Given the description of an element on the screen output the (x, y) to click on. 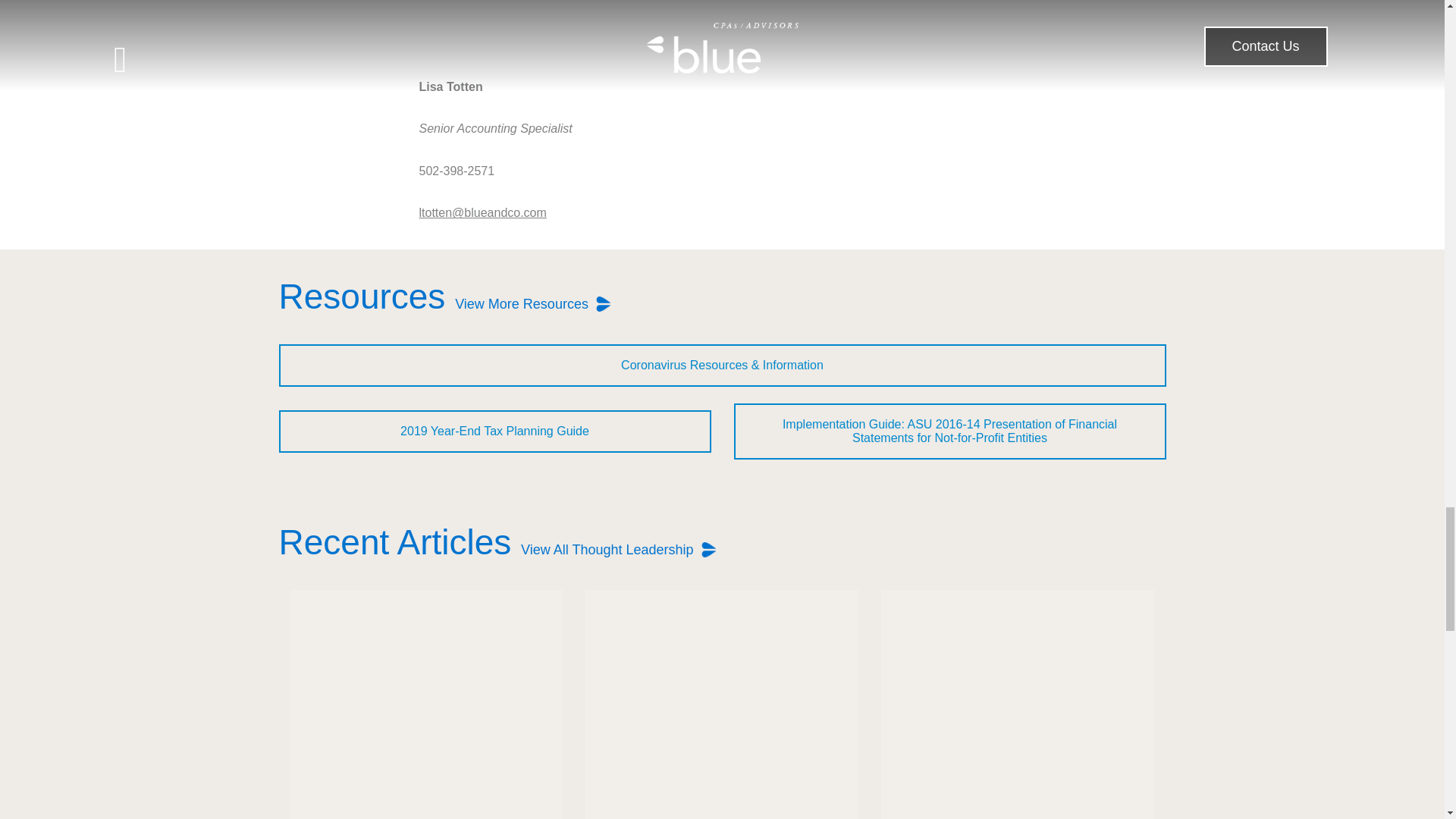
Year-End Tax Planning Guide (495, 431)
